Given the description of an element on the screen output the (x, y) to click on. 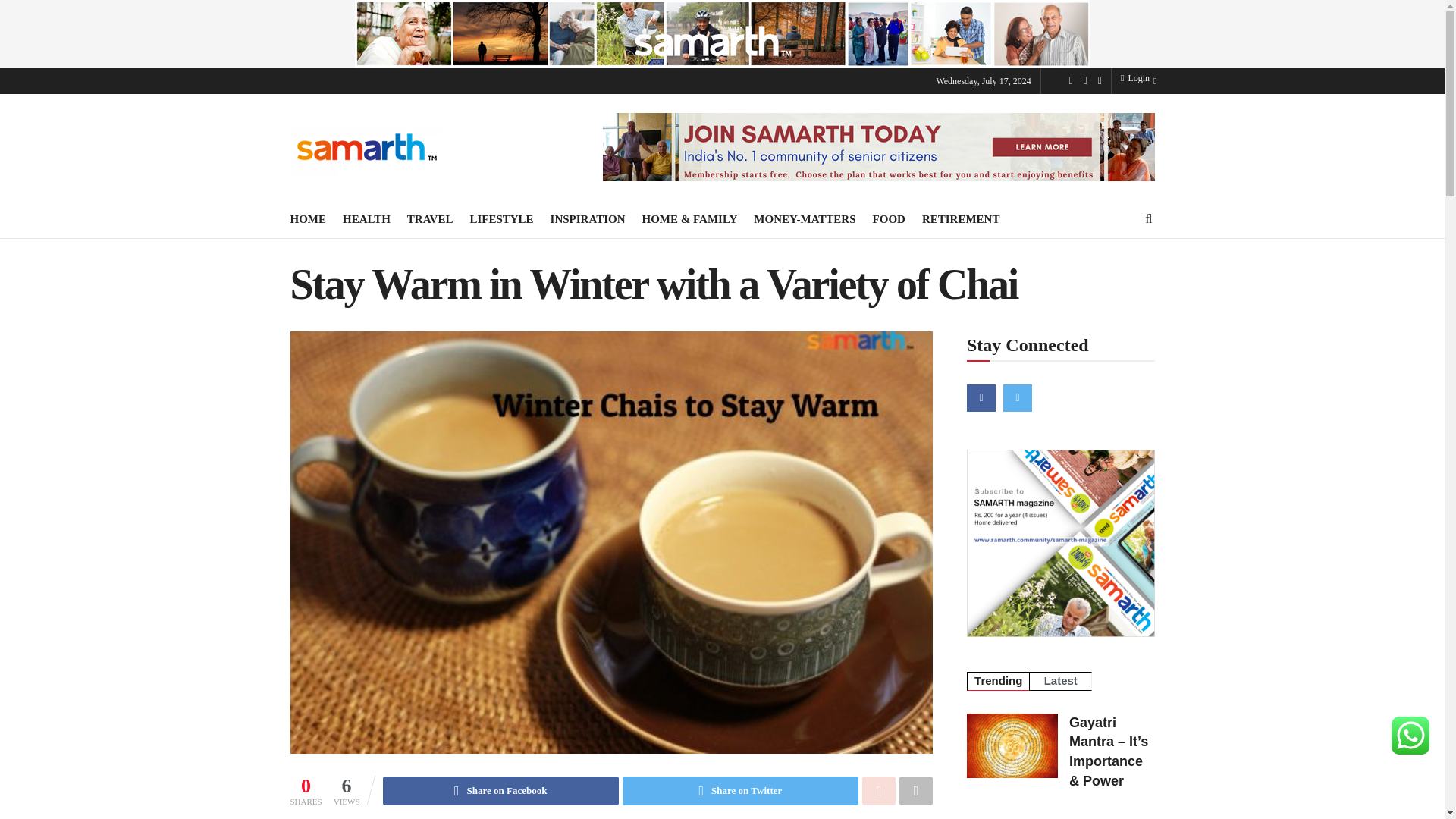
MONEY-MATTERS (805, 219)
Login (1135, 78)
FOOD (888, 219)
RETIREMENT (960, 219)
INSPIRATION (588, 219)
HOME (307, 219)
HEALTH (366, 219)
TRAVEL (429, 219)
LIFESTYLE (500, 219)
